Given the description of an element on the screen output the (x, y) to click on. 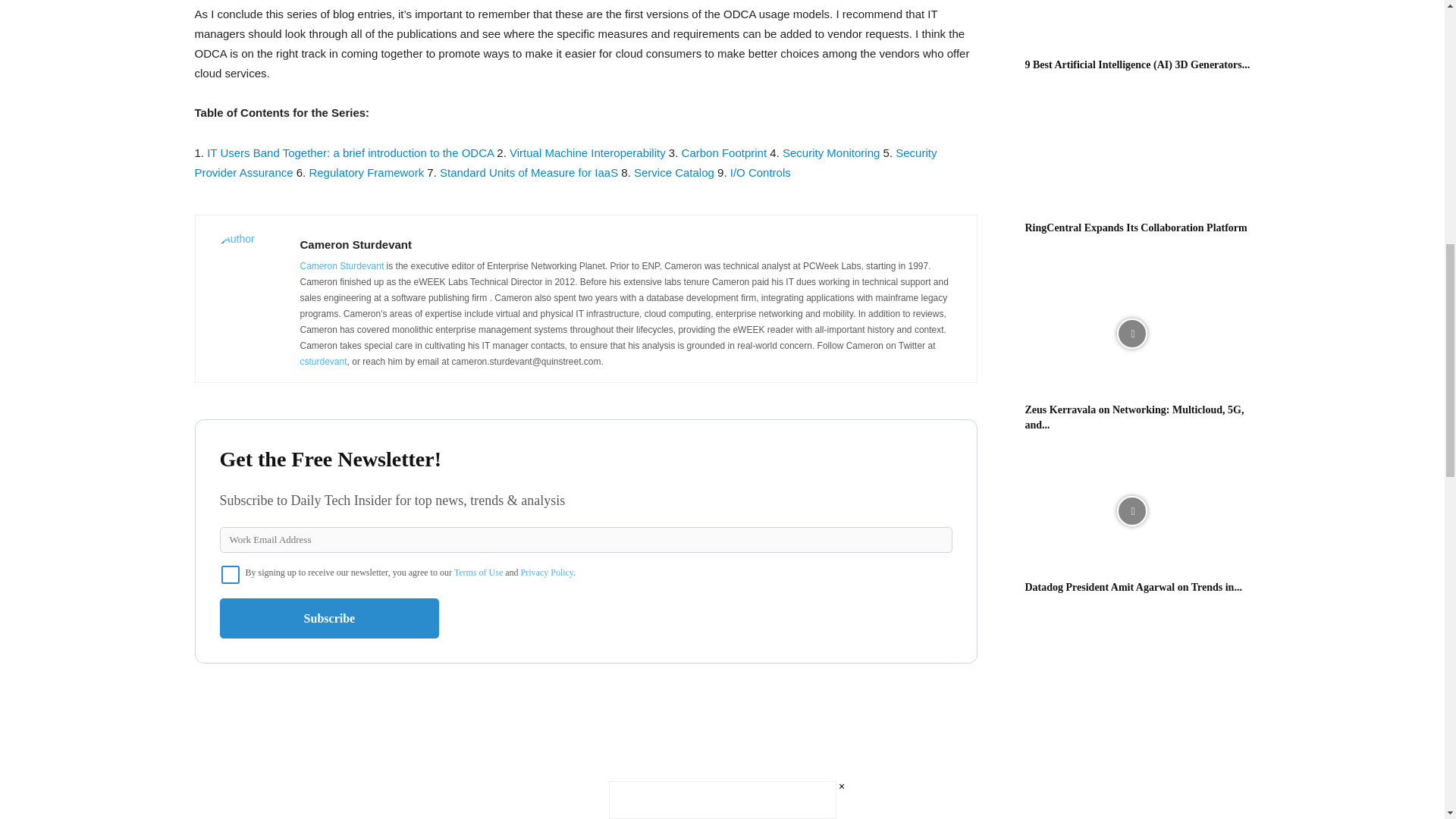
Zeus Kerravala on Networking: Multicloud, 5G, and Automation (1134, 417)
RingCentral Expands Its Collaboration Platform (1136, 227)
Zeus Kerravala on Networking: Multicloud, 5G, and Automation (1131, 333)
on (230, 574)
RingCentral Expands Its Collaboration Platform (1131, 151)
